Given the description of an element on the screen output the (x, y) to click on. 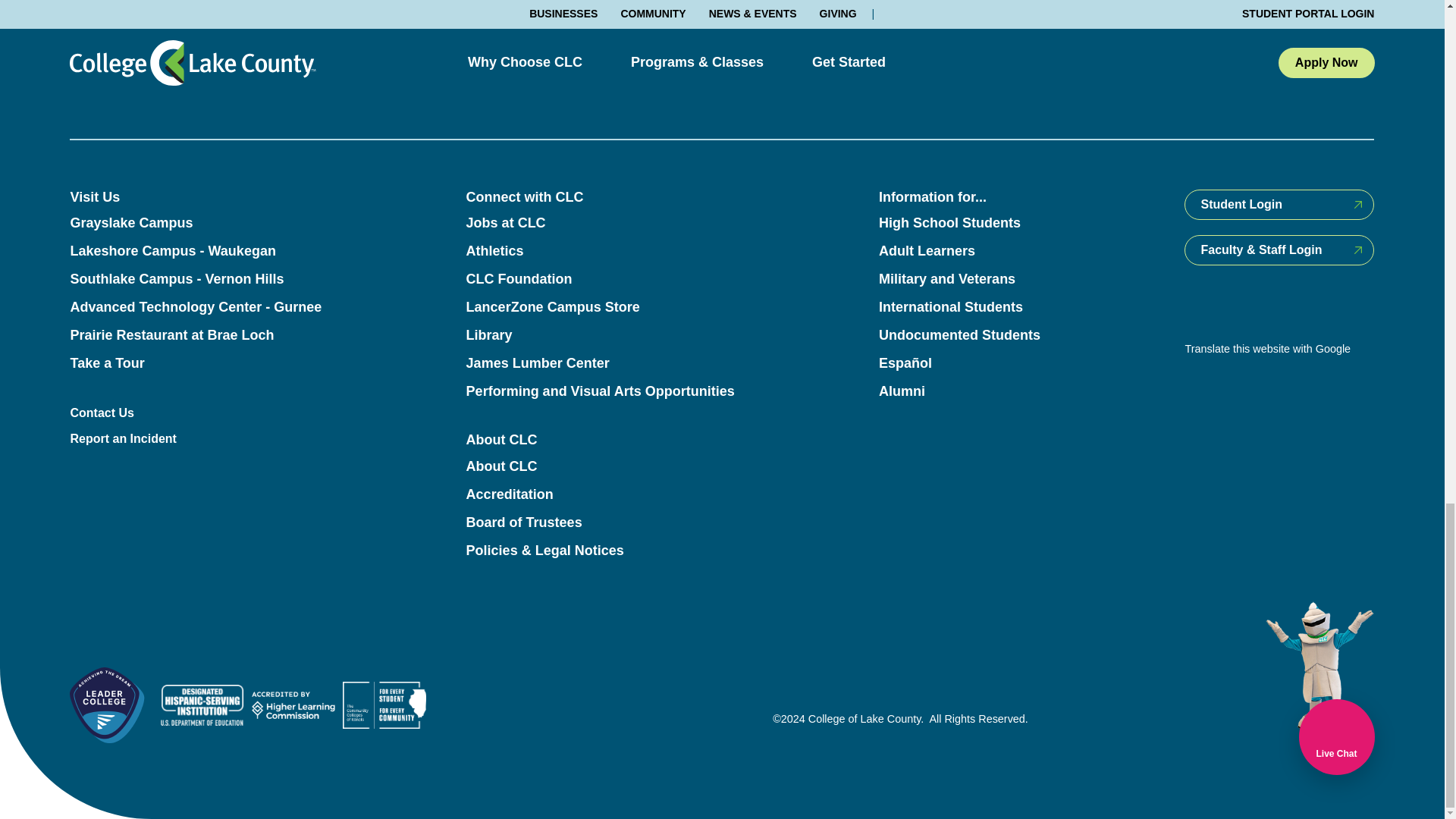
Prairie Restaurant at Brae Loch (171, 335)
Contact Us (101, 412)
Subscribe to our newsletter (819, 55)
Grayslake Campus (130, 222)
Apply now (433, 55)
Request information (602, 55)
Advanced Technology Center - Gurnee (195, 306)
Lakeshore Campus - Waukegan (172, 250)
Southlake Campus - Vernon Hills (176, 278)
Take a Tour (106, 363)
Contact us (1010, 55)
